Given the description of an element on the screen output the (x, y) to click on. 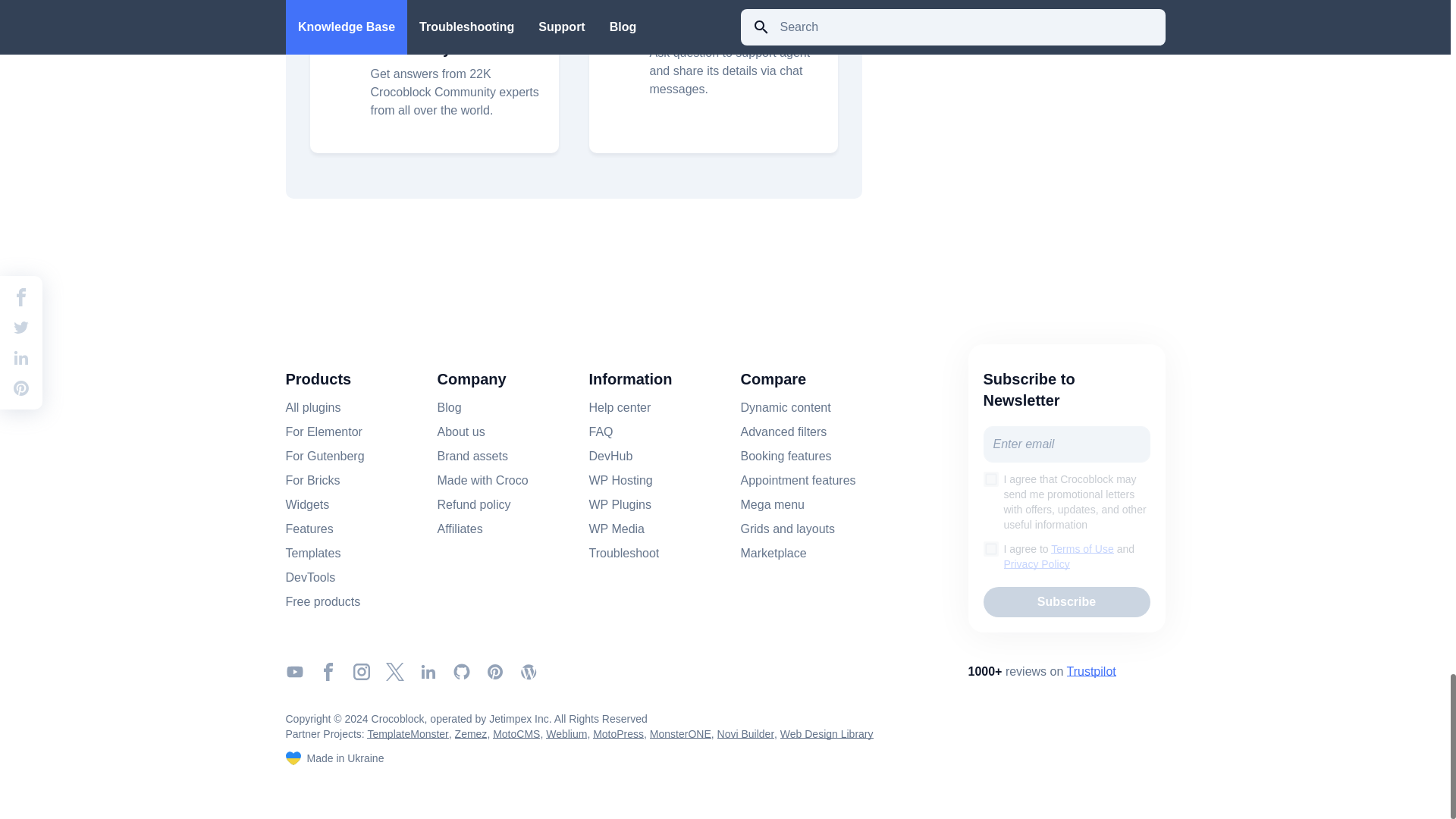
WP Hosting (620, 480)
WP Plugins (619, 505)
Templates (312, 553)
For Elementor (323, 432)
Widgets (307, 505)
About us (460, 432)
All plugins (312, 407)
Troubleshoot (623, 553)
Help center (619, 407)
WP Media (616, 529)
Blog (448, 407)
For Gutenberg (324, 456)
Free products (322, 601)
Affiliates (458, 529)
Brand assets (471, 456)
